Given the description of an element on the screen output the (x, y) to click on. 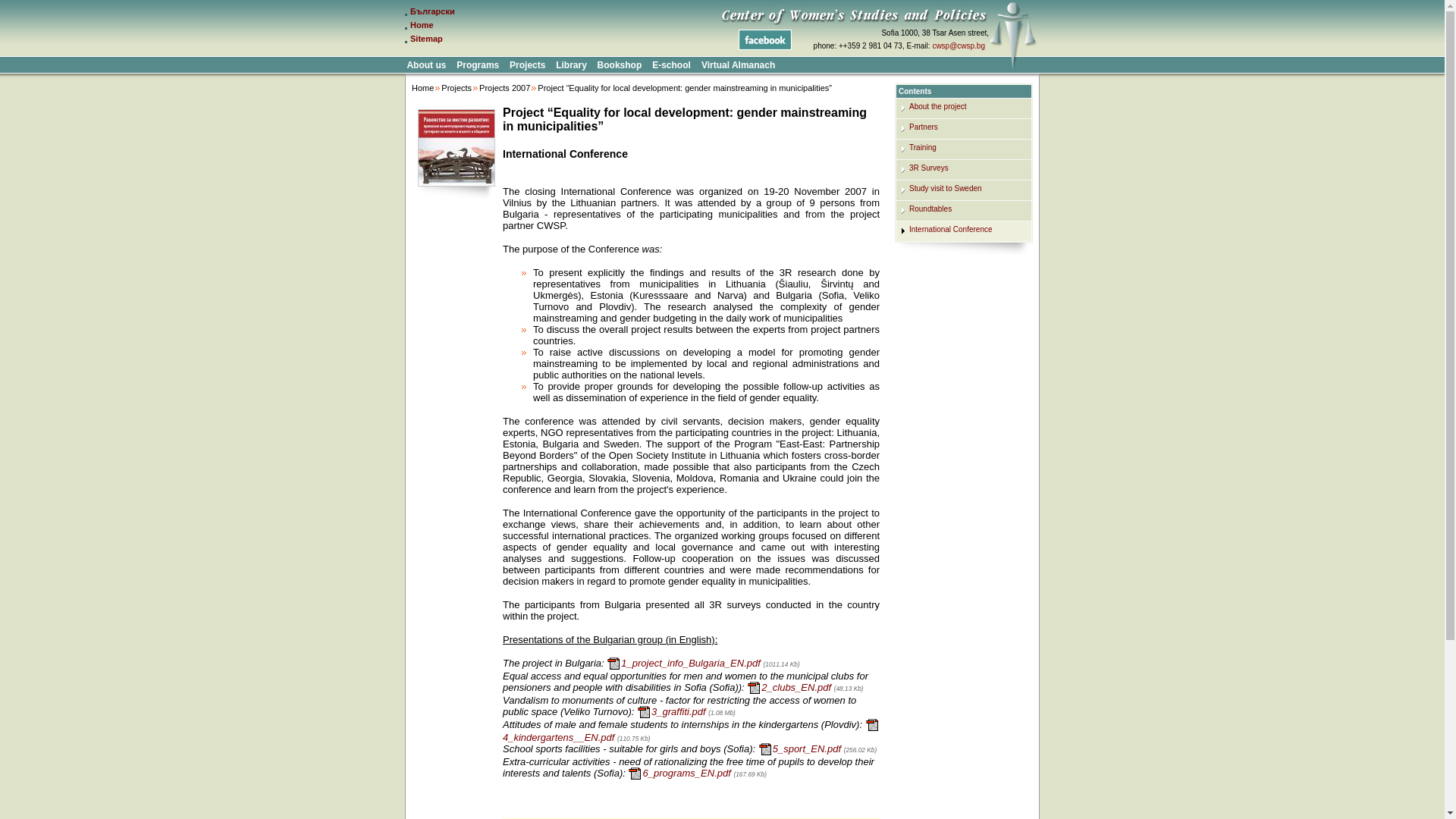
Sitemap (426, 38)
Bulgarian version (432, 10)
Sitemap (426, 38)
About the project (937, 106)
Study visit to Sweden (944, 188)
3R Surveys (928, 167)
Home (422, 87)
Partners (922, 126)
International Conference (950, 229)
Home page (421, 24)
Projects (456, 87)
Roundtables (930, 208)
Home (421, 24)
CWSP.bg on Facebook (765, 39)
Training (922, 147)
